Given the description of an element on the screen output the (x, y) to click on. 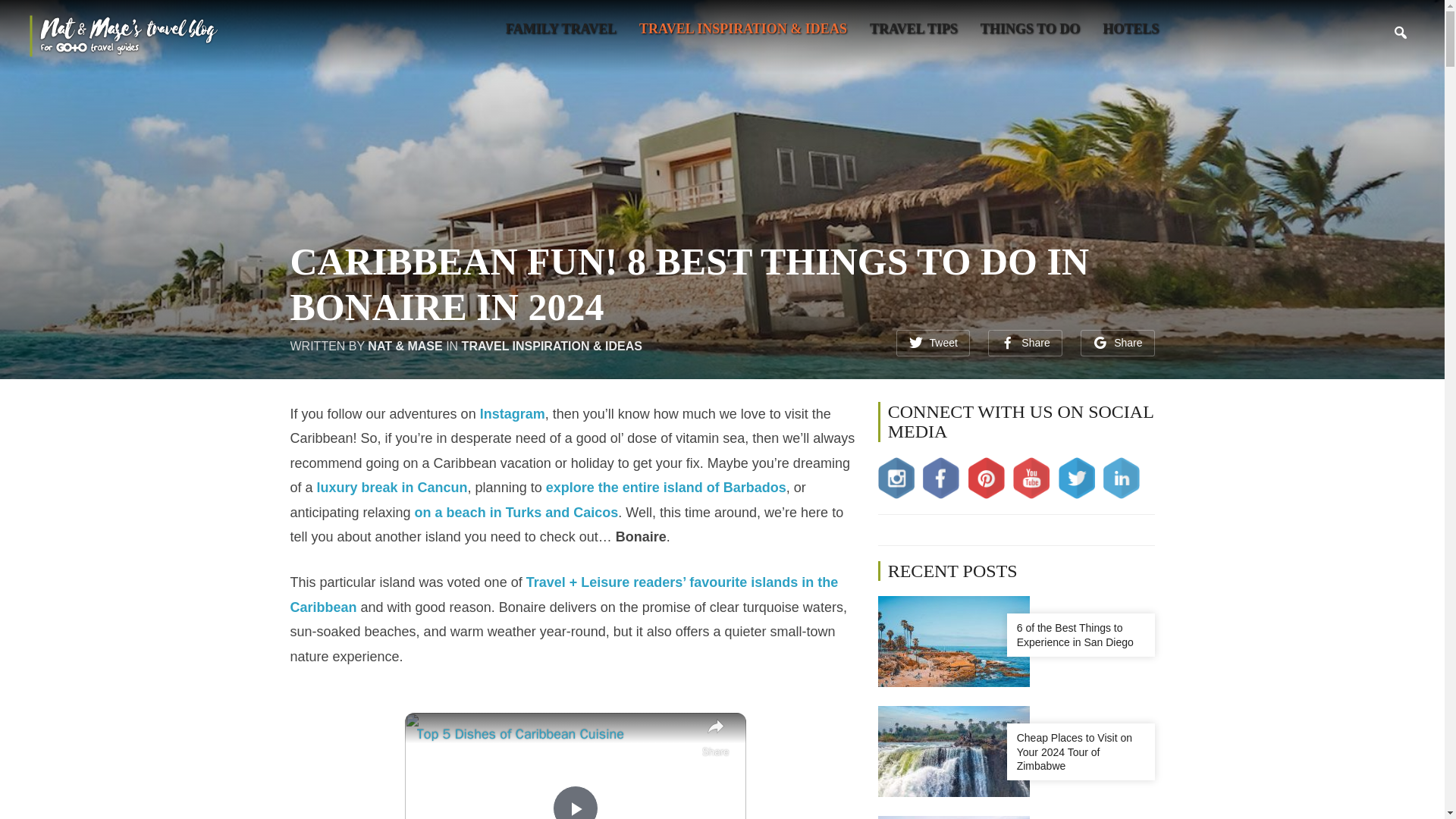
HOTELS (1130, 29)
explore the entire island of Barbados (666, 487)
THINGS TO DO (1029, 29)
Play Video (575, 802)
Search (1400, 32)
TRAVEL TIPS (913, 29)
Tweet (932, 343)
Tweet this on Twitter (932, 343)
FAMILY TRAVEL (560, 29)
luxury break in Cancun (392, 487)
Instagram (512, 413)
Play Video (575, 802)
Share (1024, 343)
Share (1117, 343)
on a beach in Turks and Caicos (516, 512)
